Given the description of an element on the screen output the (x, y) to click on. 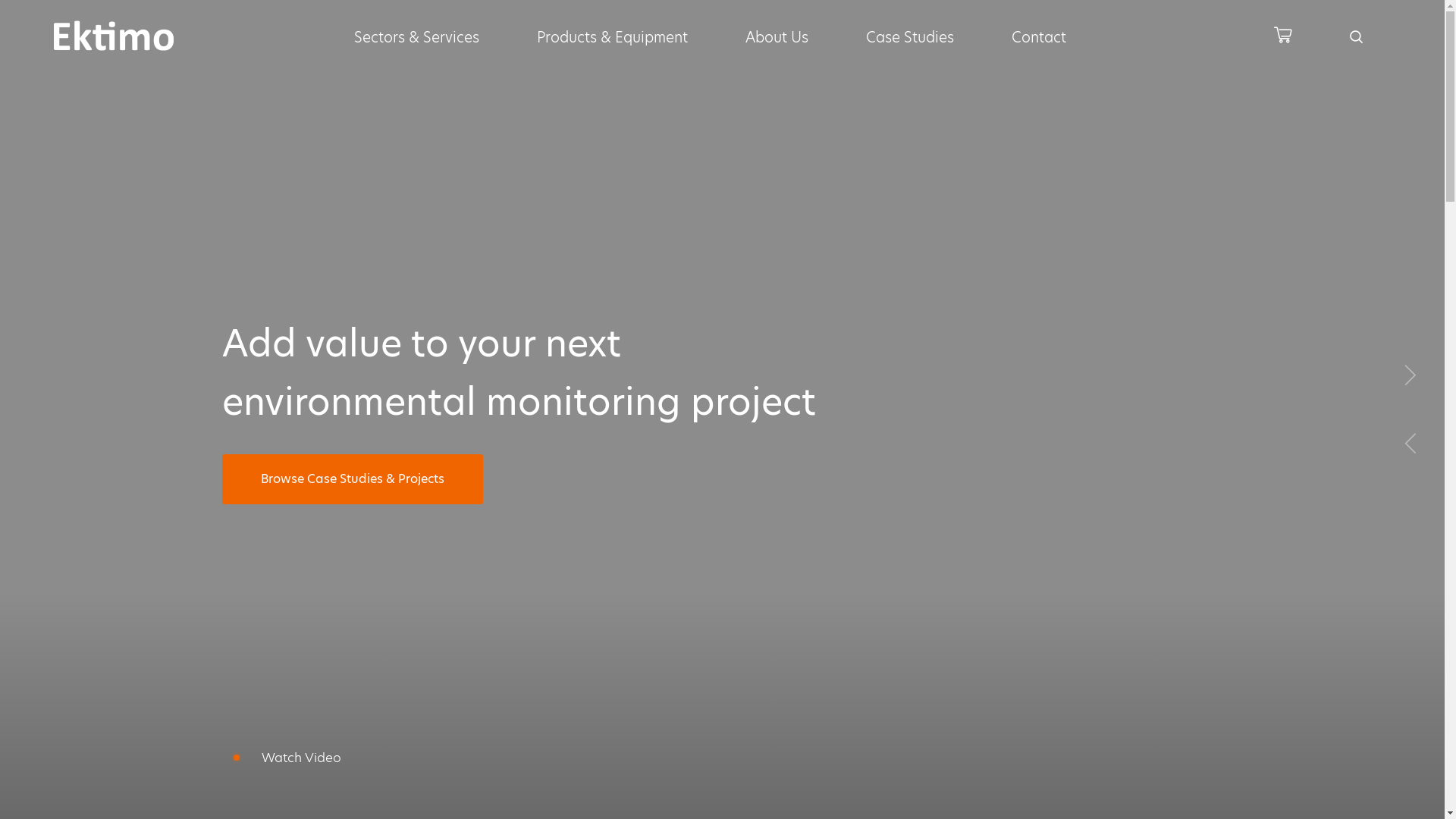
Products & Equipment Element type: text (612, 37)
Sectors & Services Element type: text (415, 37)
Browse Case Studies & Projects Element type: text (351, 479)
Watch Video Element type: text (280, 757)
Ektimo Element type: hover (113, 35)
About Us Element type: text (775, 37)
Case Studies Element type: text (909, 37)
Contact Element type: text (1038, 37)
